Given the description of an element on the screen output the (x, y) to click on. 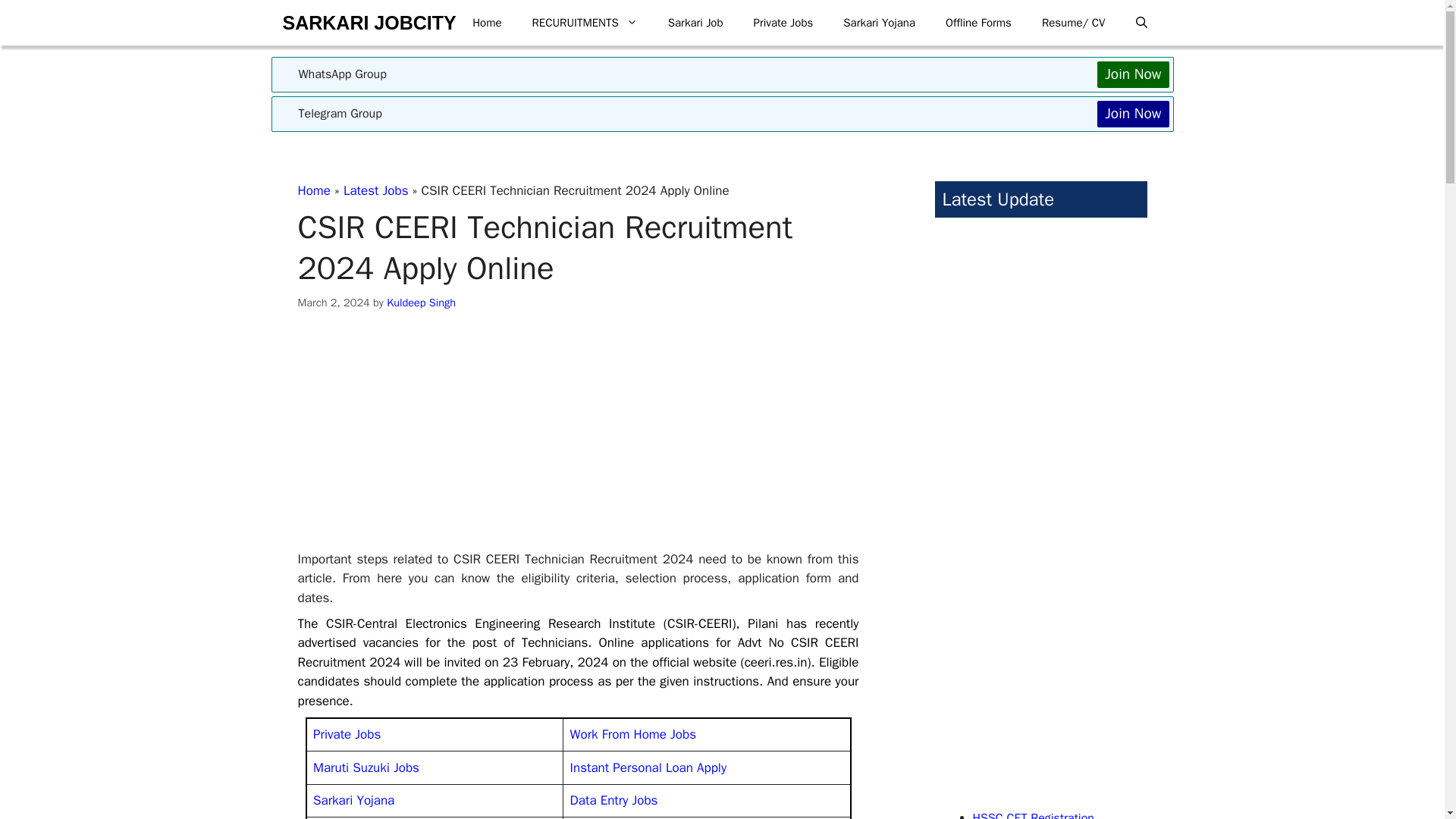
Data Entry Jobs (614, 800)
Latest Jobs (376, 190)
Private Jobs (783, 22)
Join Now (1133, 74)
Home (313, 190)
Sarkari Job (695, 22)
RECURUITMENTS (584, 22)
Home (486, 22)
Work From Home Jobs (632, 734)
Maruti Suzuki Jobs (366, 767)
Offline Forms (978, 22)
View all posts by Kuldeep Singh (421, 302)
Kuldeep Singh (421, 302)
Sarkari Yojana (353, 800)
